Given the description of an element on the screen output the (x, y) to click on. 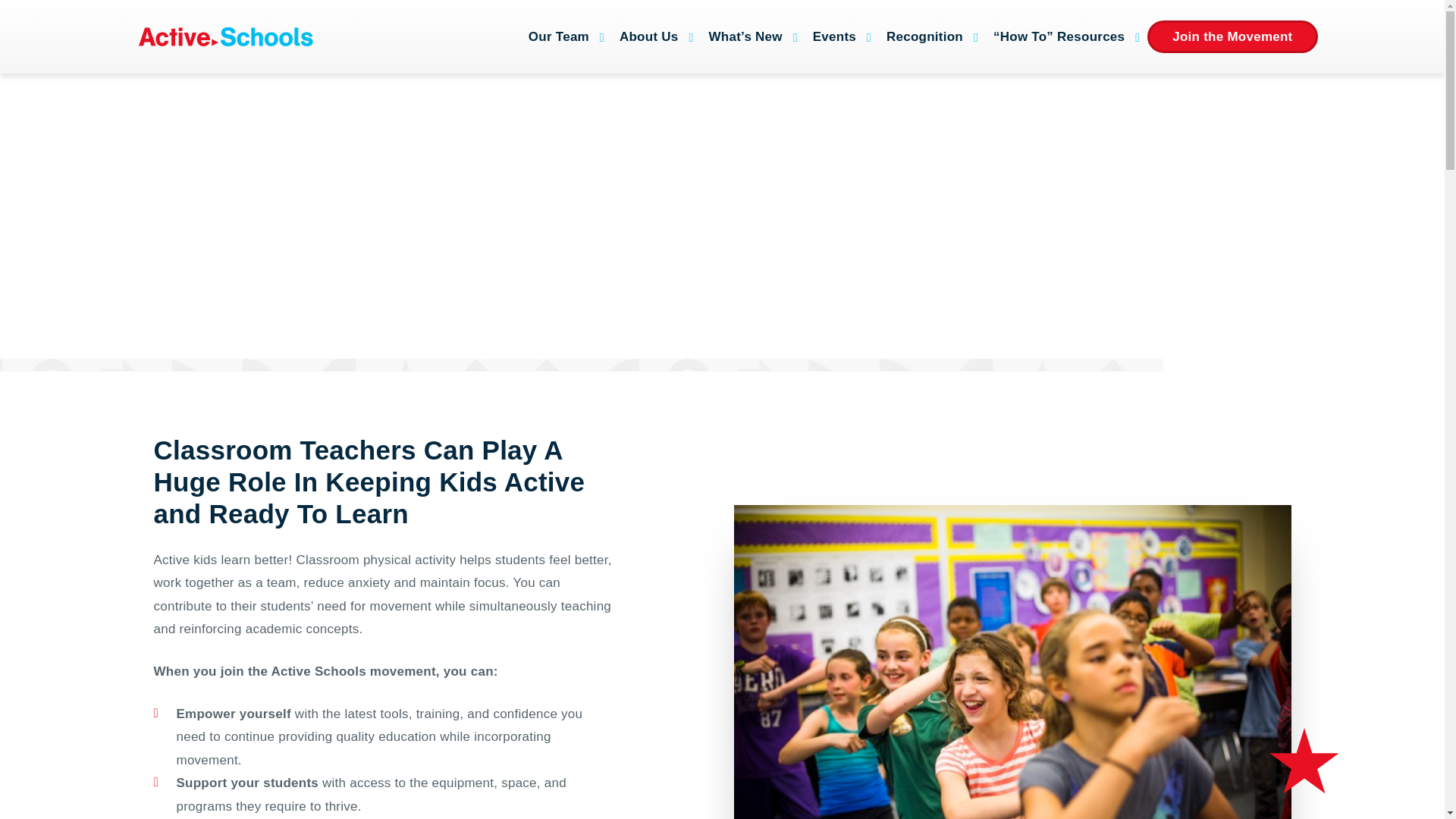
Join the Movement (1232, 36)
Recognition (928, 36)
About Us (652, 36)
Our Team (562, 36)
Events (837, 36)
About Us (652, 36)
Events (837, 36)
Our Team (562, 36)
